Given the description of an element on the screen output the (x, y) to click on. 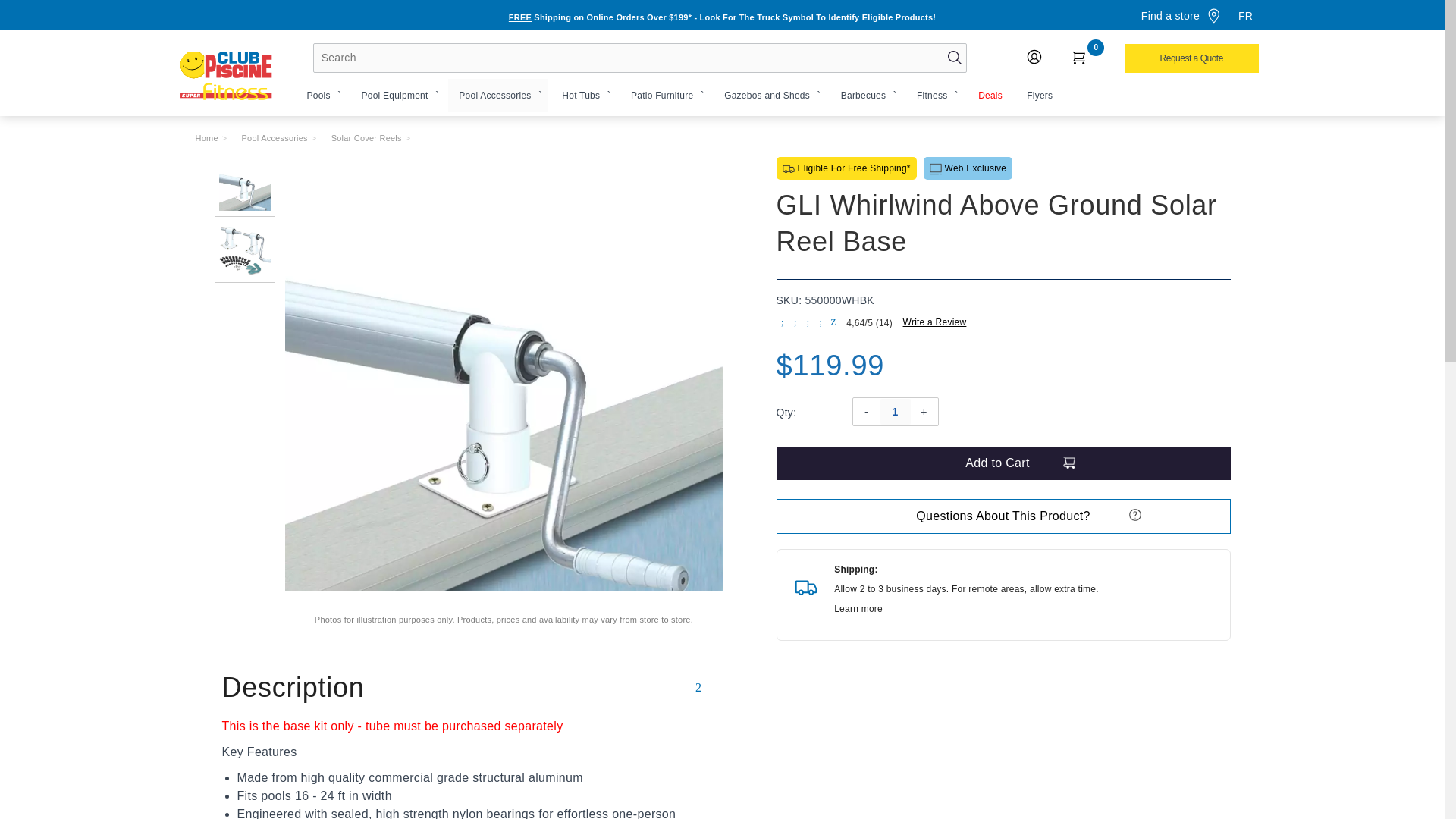
1 (894, 411)
Shipping Policy (722, 17)
Pools (317, 95)
Add to Cart (1003, 462)
Club Piscine Super Fitness - Spa - Furniture - Gazebo - BBQ (226, 78)
Find a store (1180, 13)
Find a store (1180, 13)
Pool Equipment (394, 95)
Learn more (858, 608)
Club Piscine Super Fitness - Spa - Furniture - Gazebo - BBQ (226, 78)
